Given the description of an element on the screen output the (x, y) to click on. 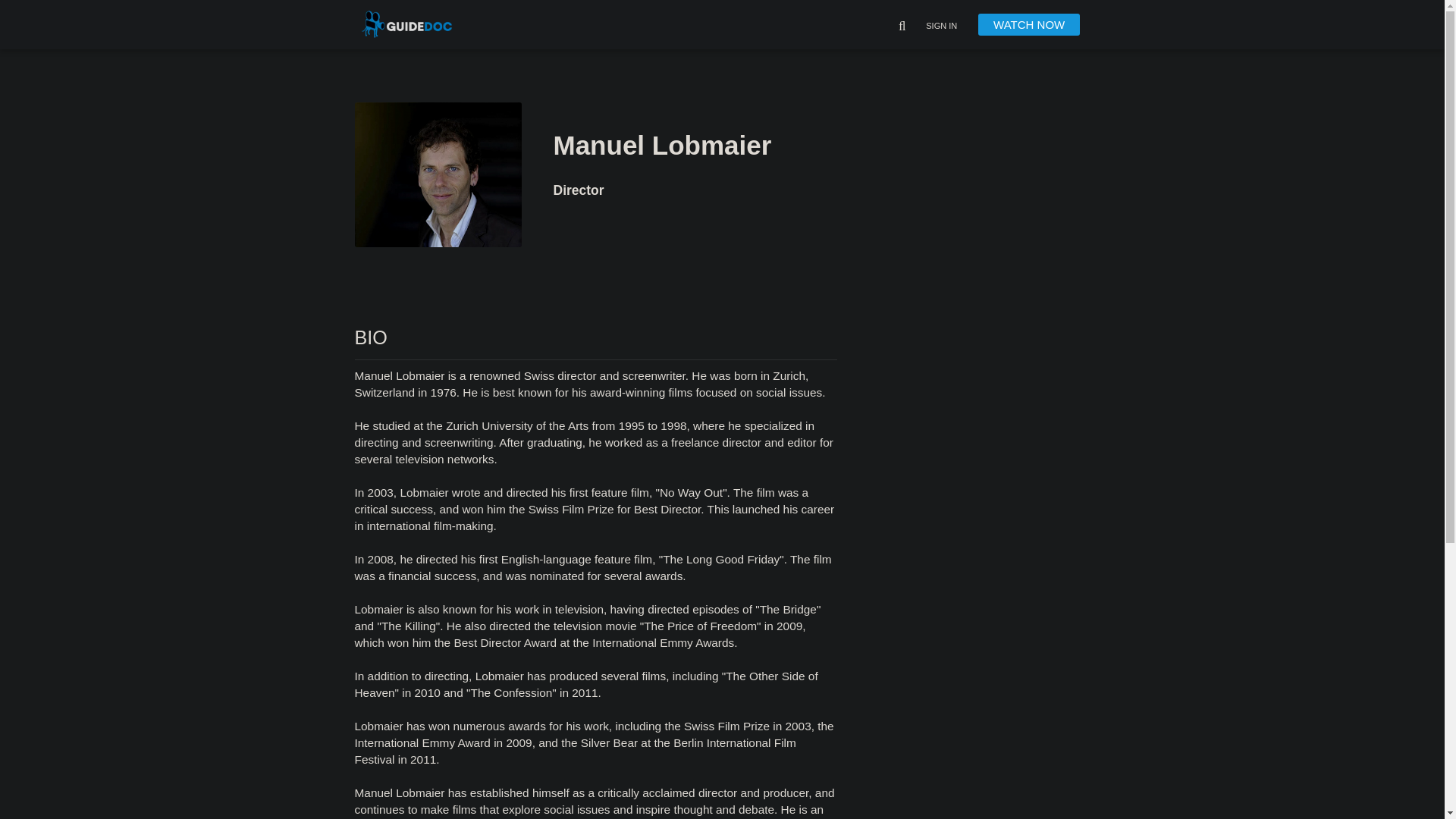
WATCH NOW (1029, 24)
SIGN IN (941, 26)
